Given the description of an element on the screen output the (x, y) to click on. 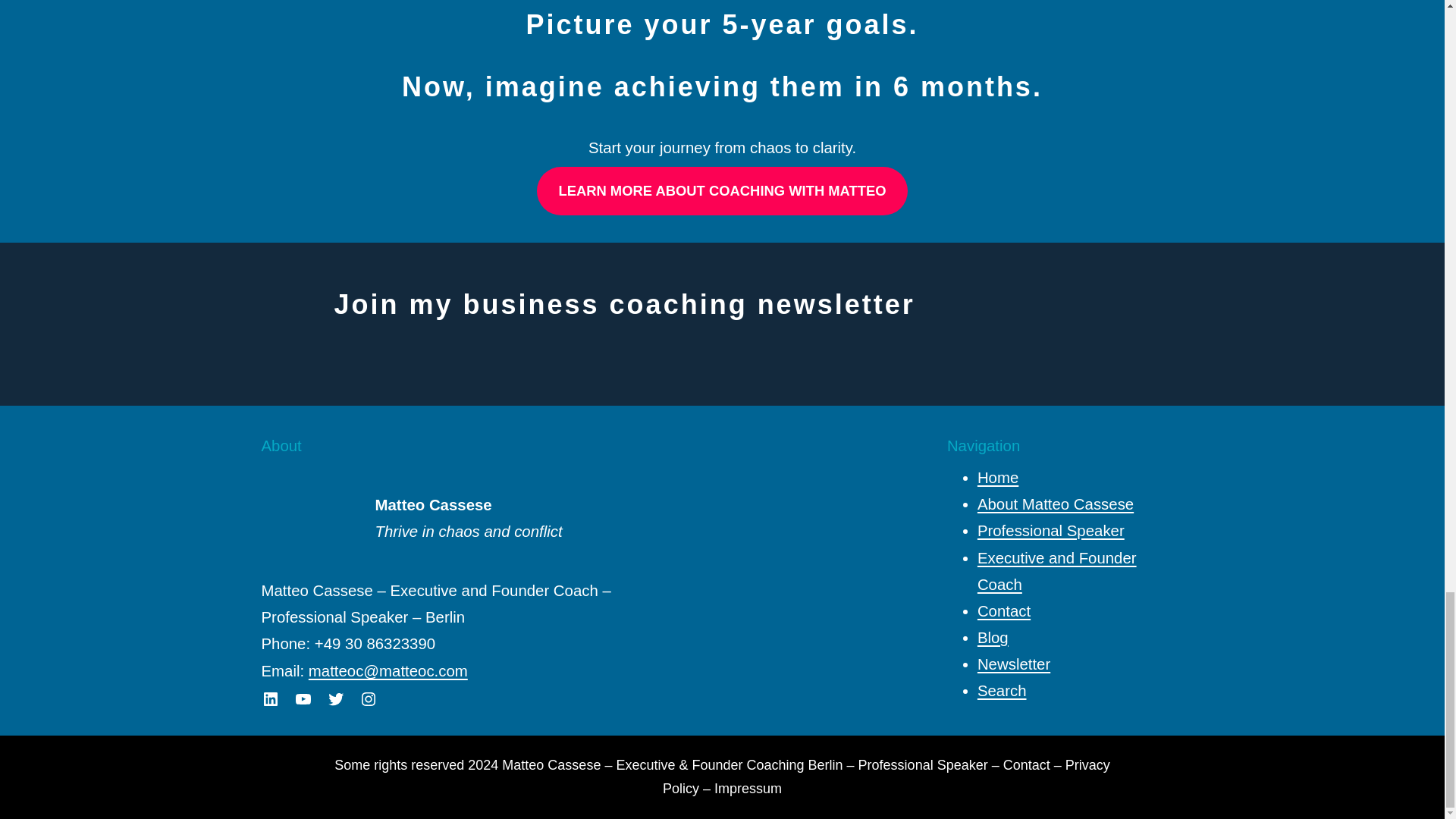
YouTube (303, 699)
Home (996, 477)
Blog (992, 637)
LinkedIn (269, 699)
LEARN MORE ABOUT COACHING WITH MATTEO (722, 191)
Twitter (335, 699)
Instagram (368, 699)
Professional Speaker (923, 765)
Newsletter (1012, 664)
Search (1001, 690)
